Given the description of an element on the screen output the (x, y) to click on. 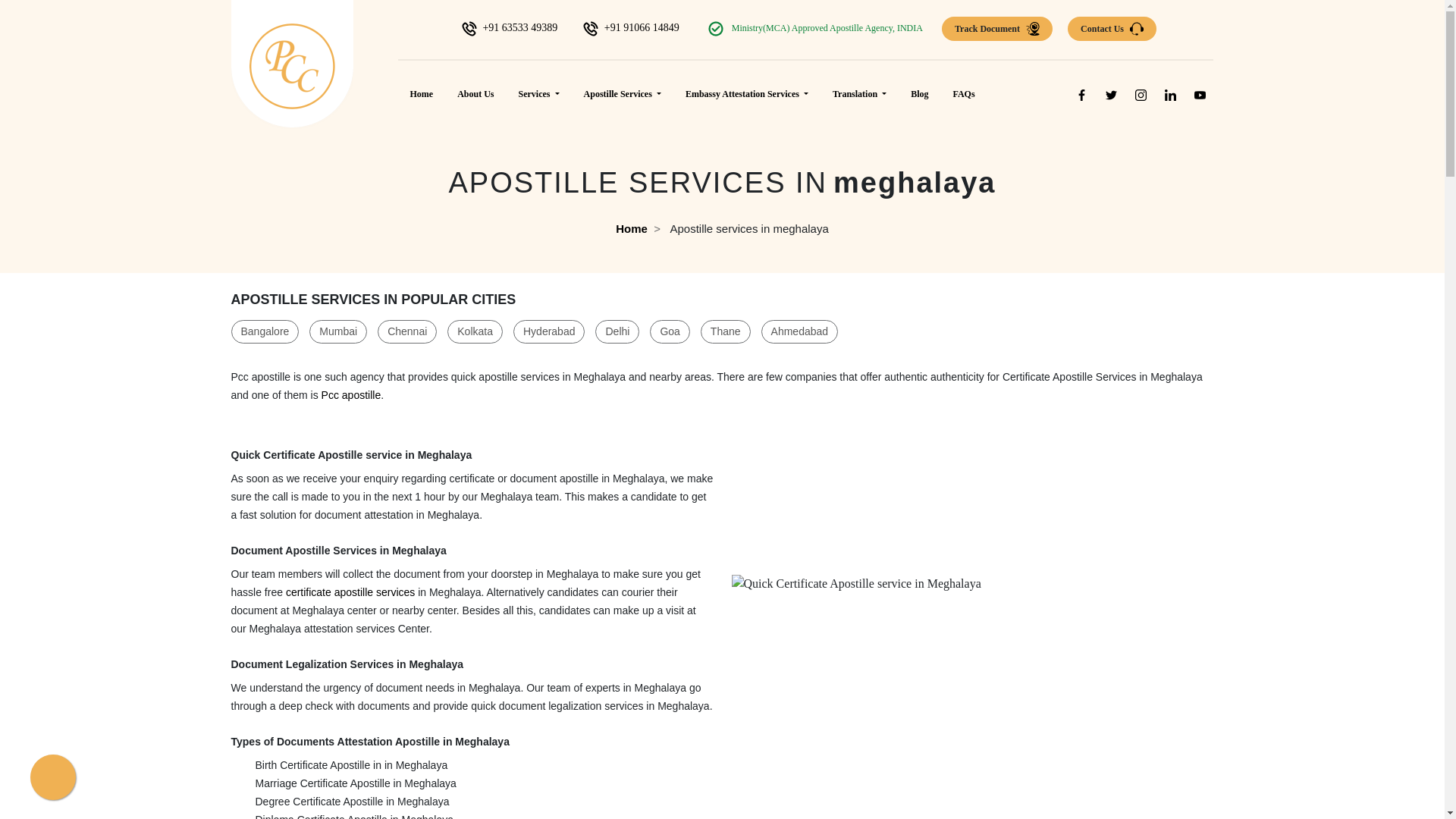
Services (539, 93)
Track Document (997, 28)
Home (421, 93)
About Us (475, 93)
Contact Us (1111, 28)
Apostille Services (622, 93)
